Given the description of an element on the screen output the (x, y) to click on. 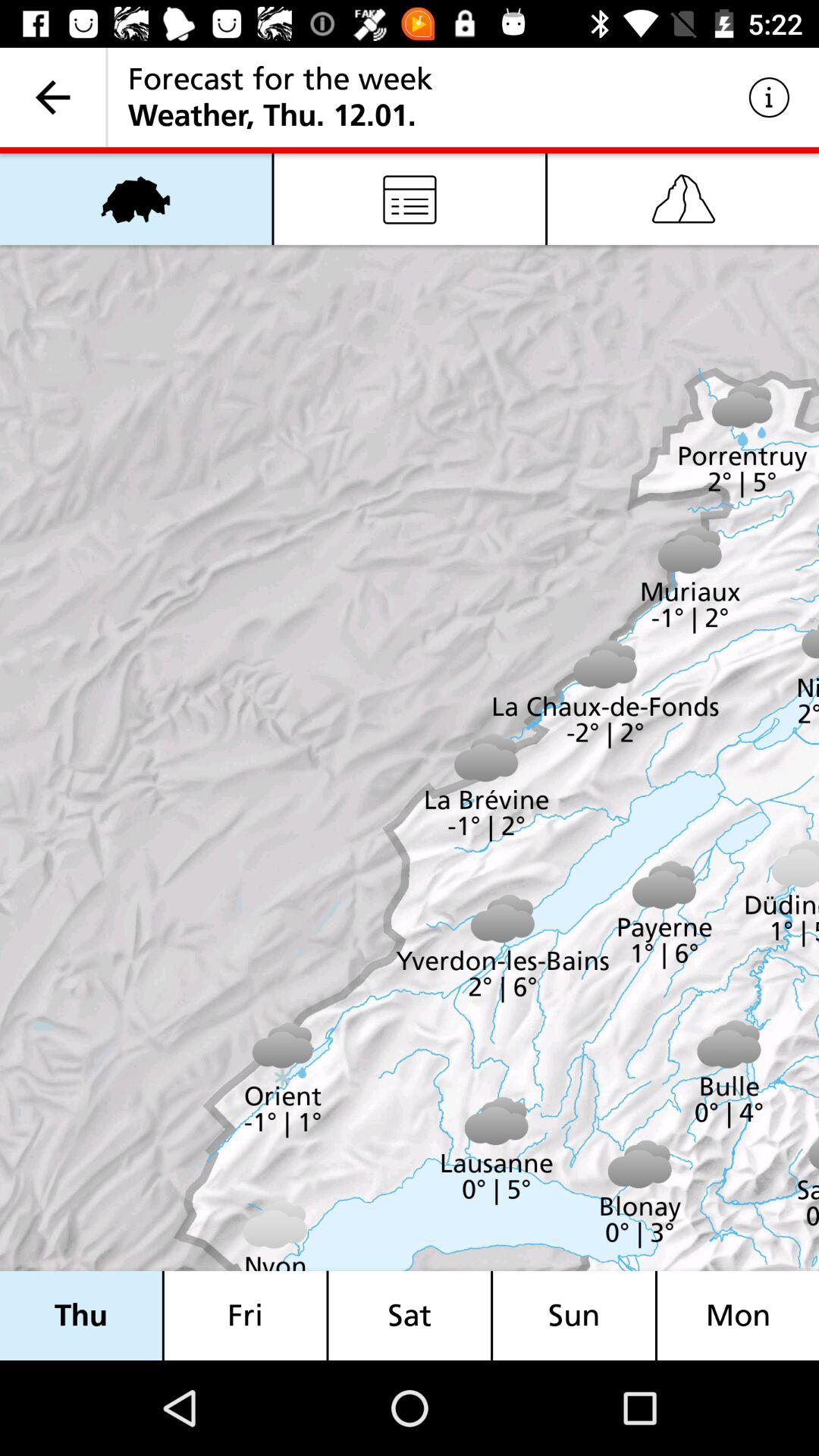
turn on item to the left of the sat icon (245, 1315)
